Given the description of an element on the screen output the (x, y) to click on. 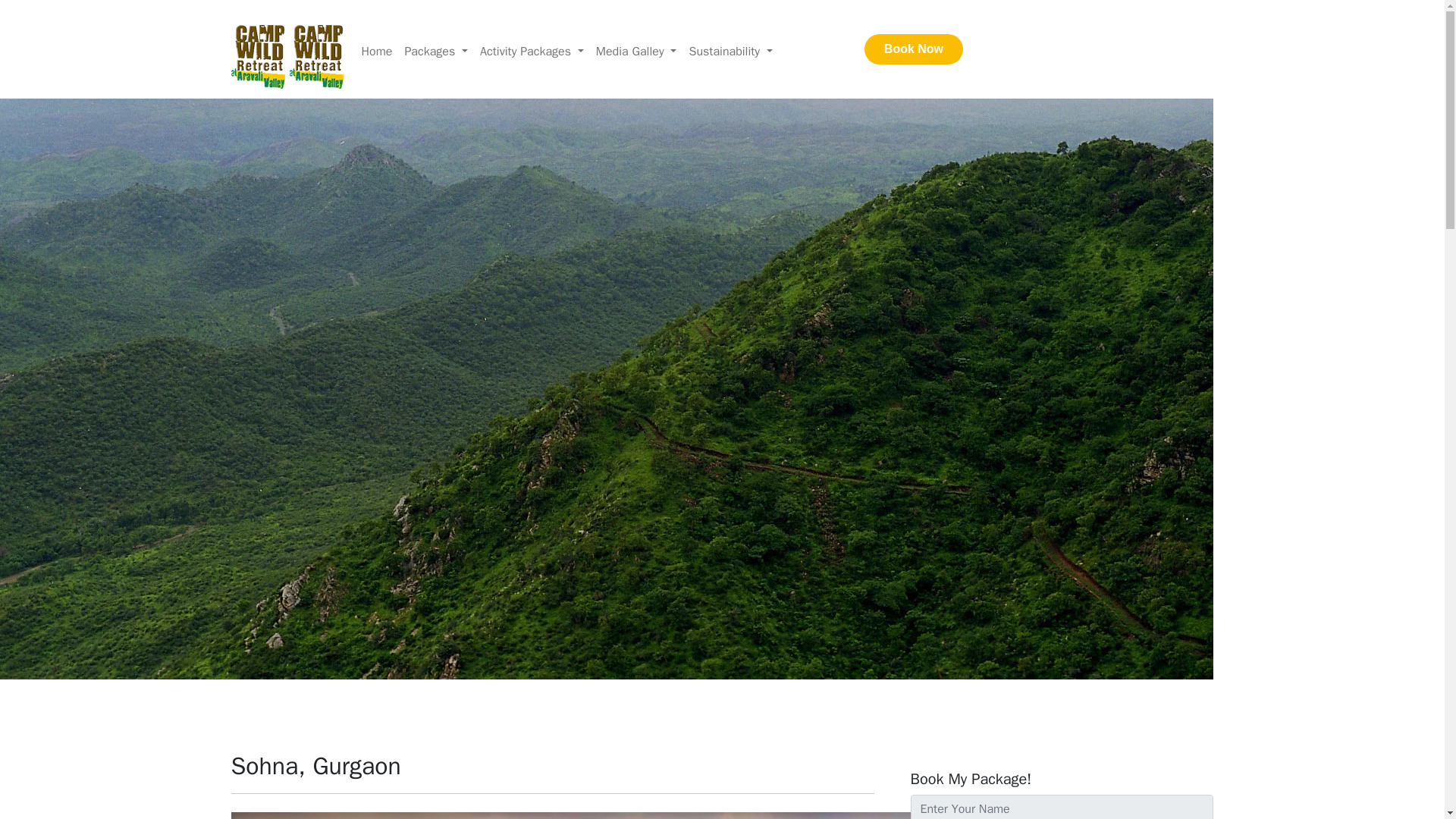
Activity Packages (531, 51)
Media Galley (635, 51)
Sustainability (729, 51)
Book Now (837, 56)
Packages (435, 51)
Home (376, 51)
Book Now (913, 49)
